Given the description of an element on the screen output the (x, y) to click on. 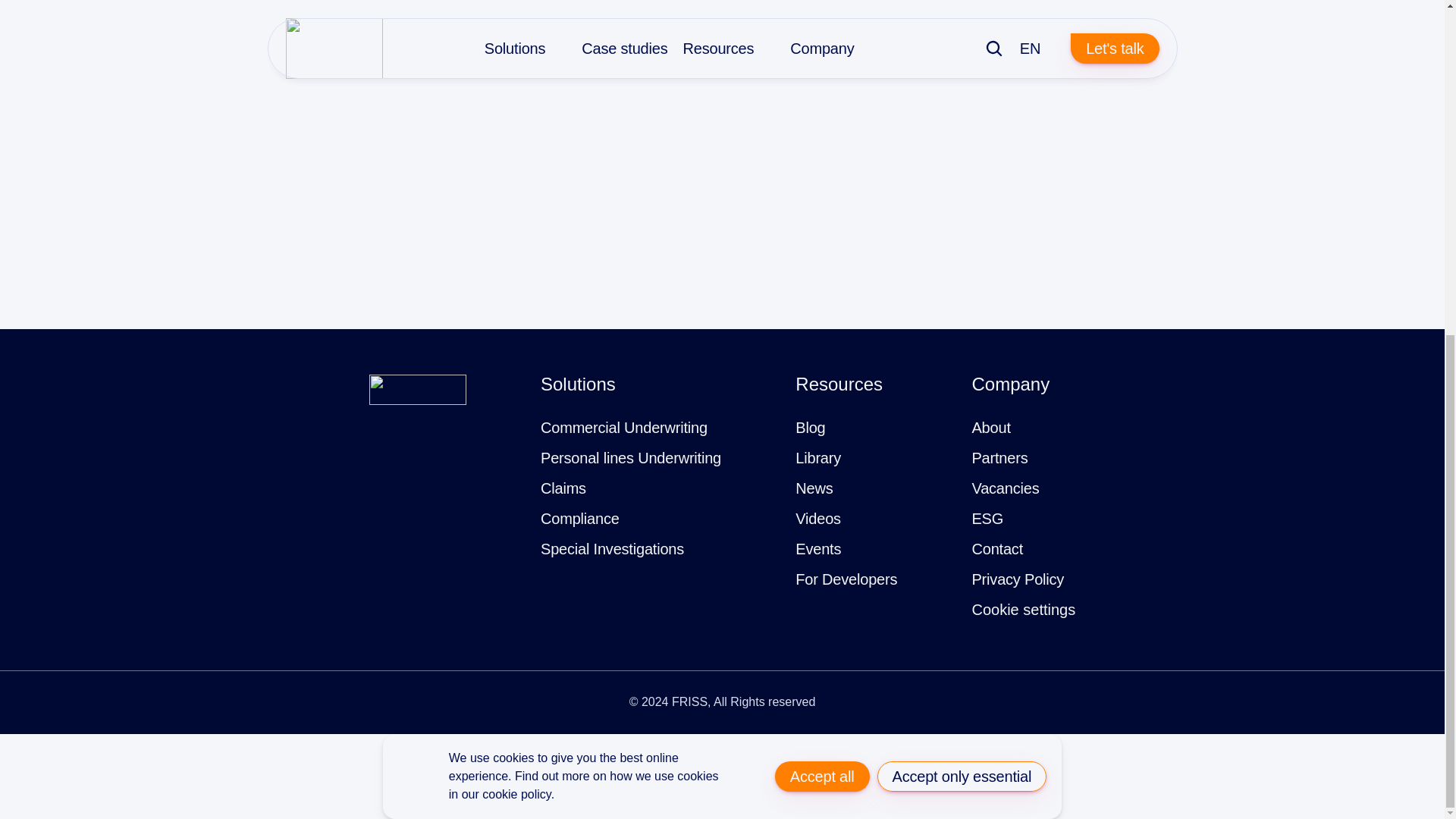
Blog (809, 427)
Events (817, 548)
Cookie settings (1023, 609)
Compliance (580, 518)
For Developers (845, 579)
Contact (997, 548)
Special Investigations (612, 548)
Privacy Policy (1017, 579)
Claims (563, 488)
Partners (999, 458)
